Given the description of an element on the screen output the (x, y) to click on. 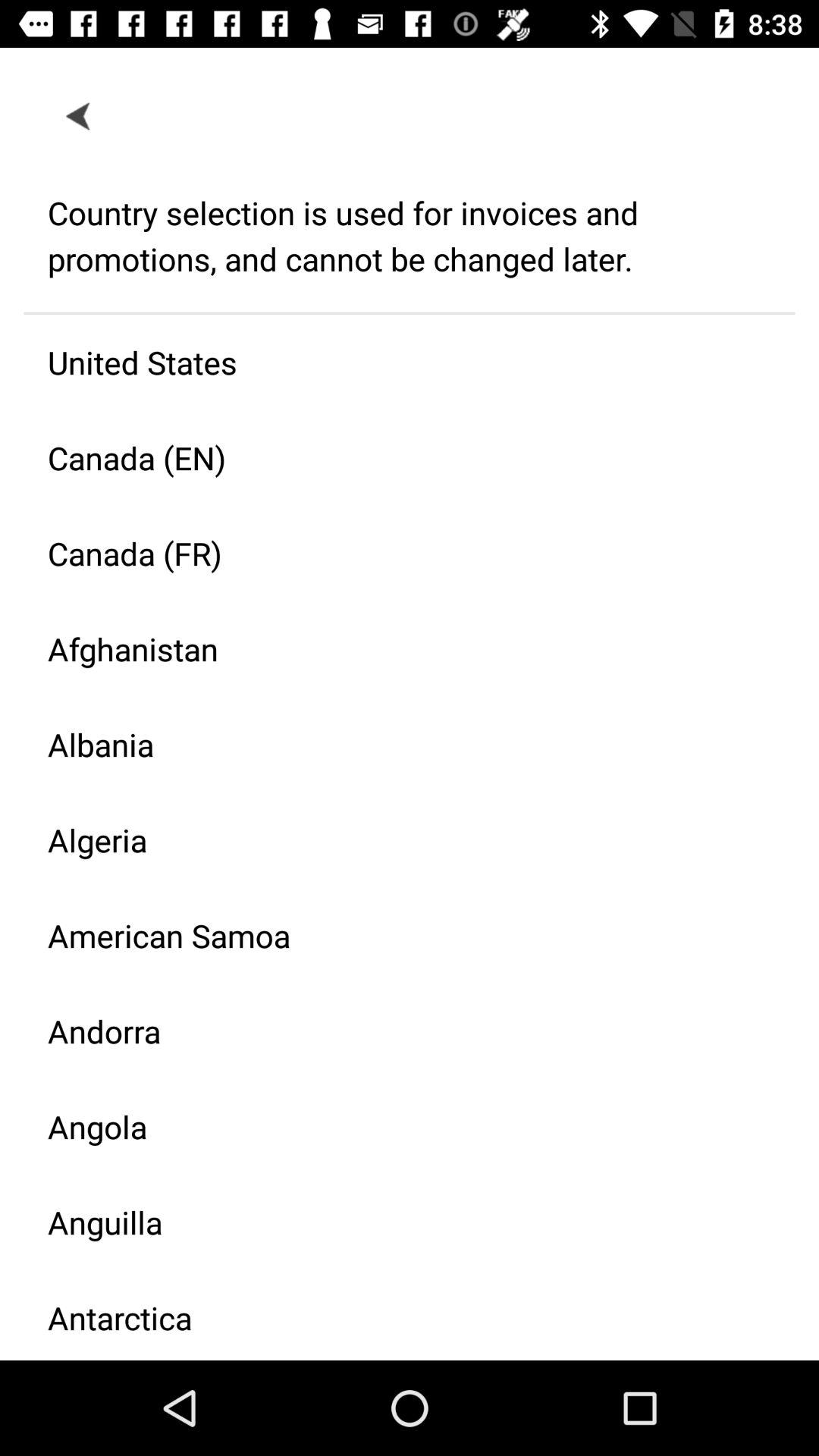
turn on the icon above the albania icon (397, 648)
